Given the description of an element on the screen output the (x, y) to click on. 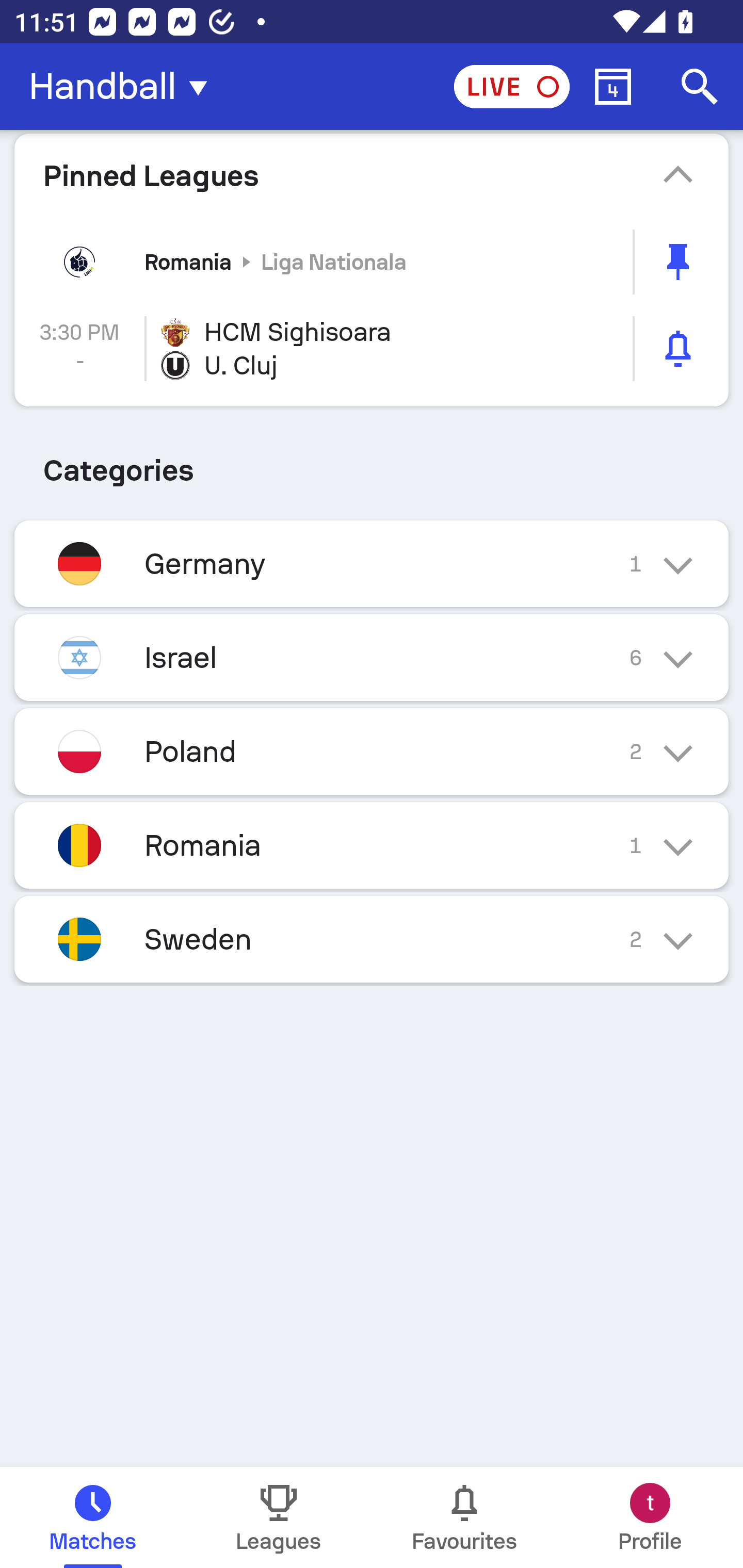
Handball (124, 86)
Calendar (612, 86)
Search (699, 86)
Pinned Leagues (371, 175)
Romania Liga Nationala (371, 261)
3:30 PM - HCM Sighisoara U. Cluj (371, 348)
Categories (371, 463)
Germany 1 (371, 563)
Israel 6 (371, 657)
Poland 2 (371, 751)
Romania 1 (371, 845)
Sweden 2 (371, 939)
Leagues (278, 1517)
Favourites (464, 1517)
Profile (650, 1517)
